Given the description of an element on the screen output the (x, y) to click on. 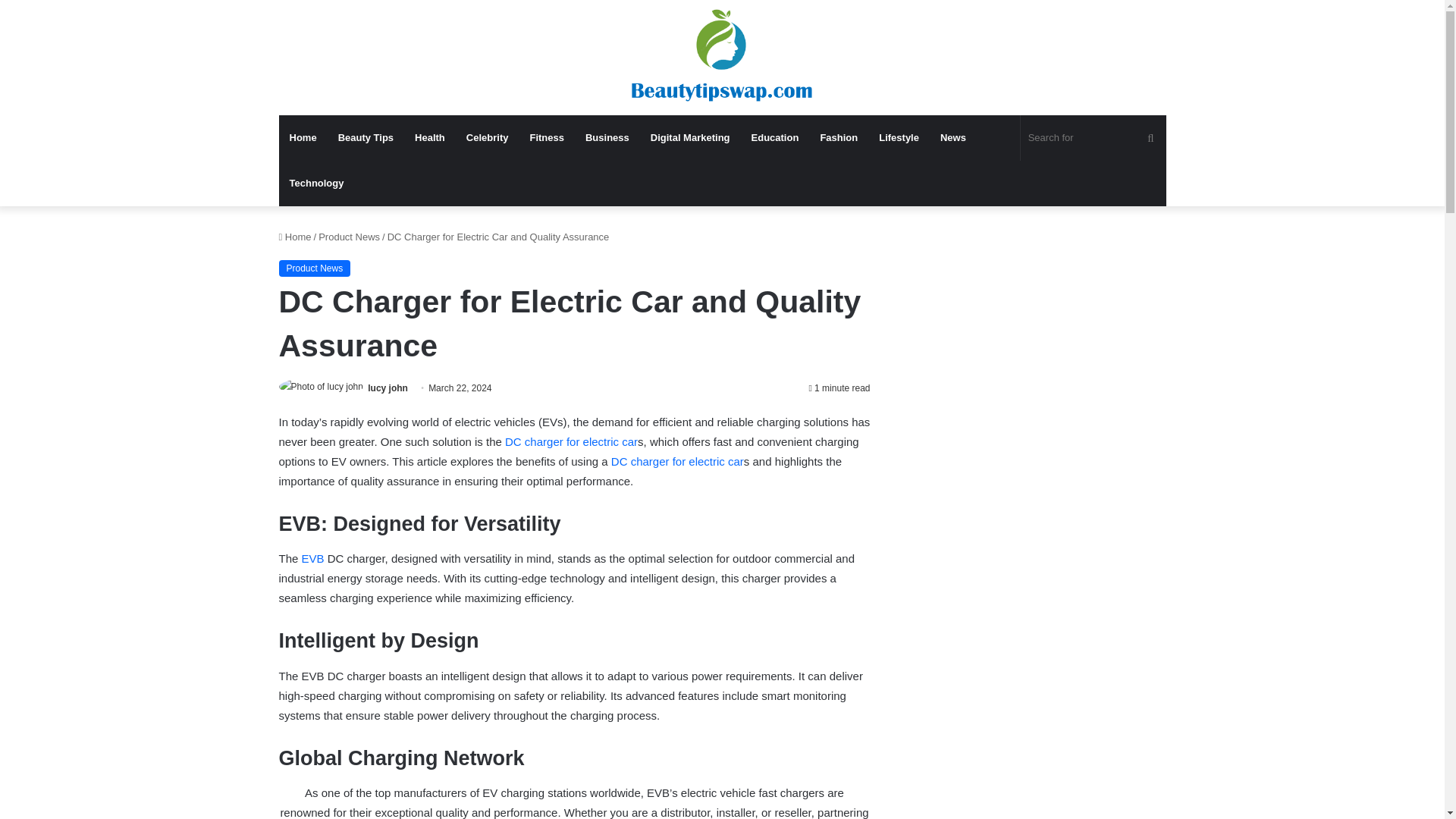
DC charger for electric car (571, 440)
lucy john (387, 388)
Product News (314, 268)
Business (607, 137)
lucy john (387, 388)
Technology (317, 183)
Fashion (838, 137)
EVB (312, 558)
Fitness (546, 137)
Education (775, 137)
Home (295, 236)
Beauty Tips (365, 137)
Search for (1093, 137)
News (953, 137)
Digital Marketing (690, 137)
